Given the description of an element on the screen output the (x, y) to click on. 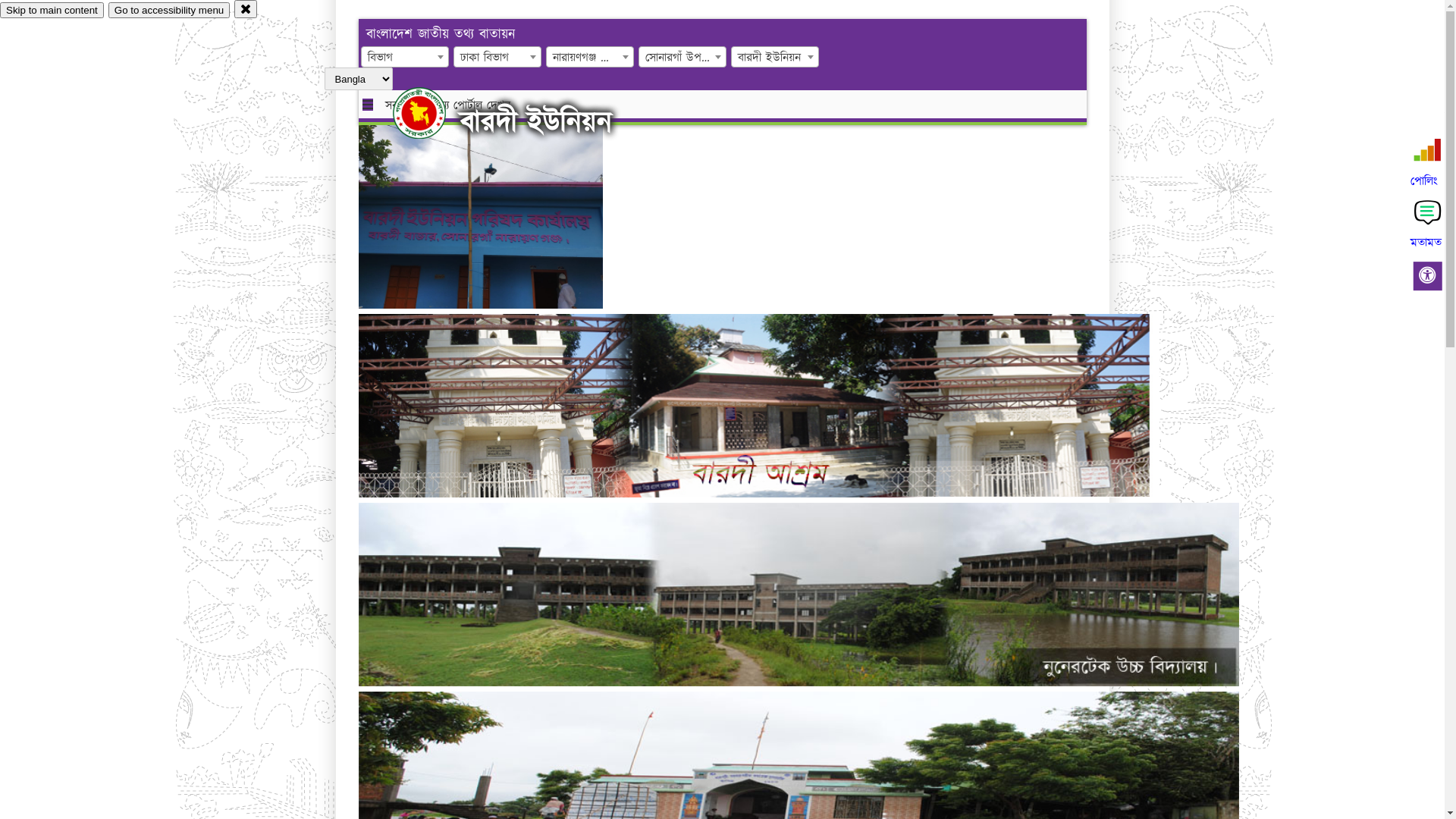
Go to accessibility menu Element type: text (168, 10)
close Element type: hover (245, 9)
Skip to main content Element type: text (51, 10)

                
             Element type: hover (431, 112)
